Given the description of an element on the screen output the (x, y) to click on. 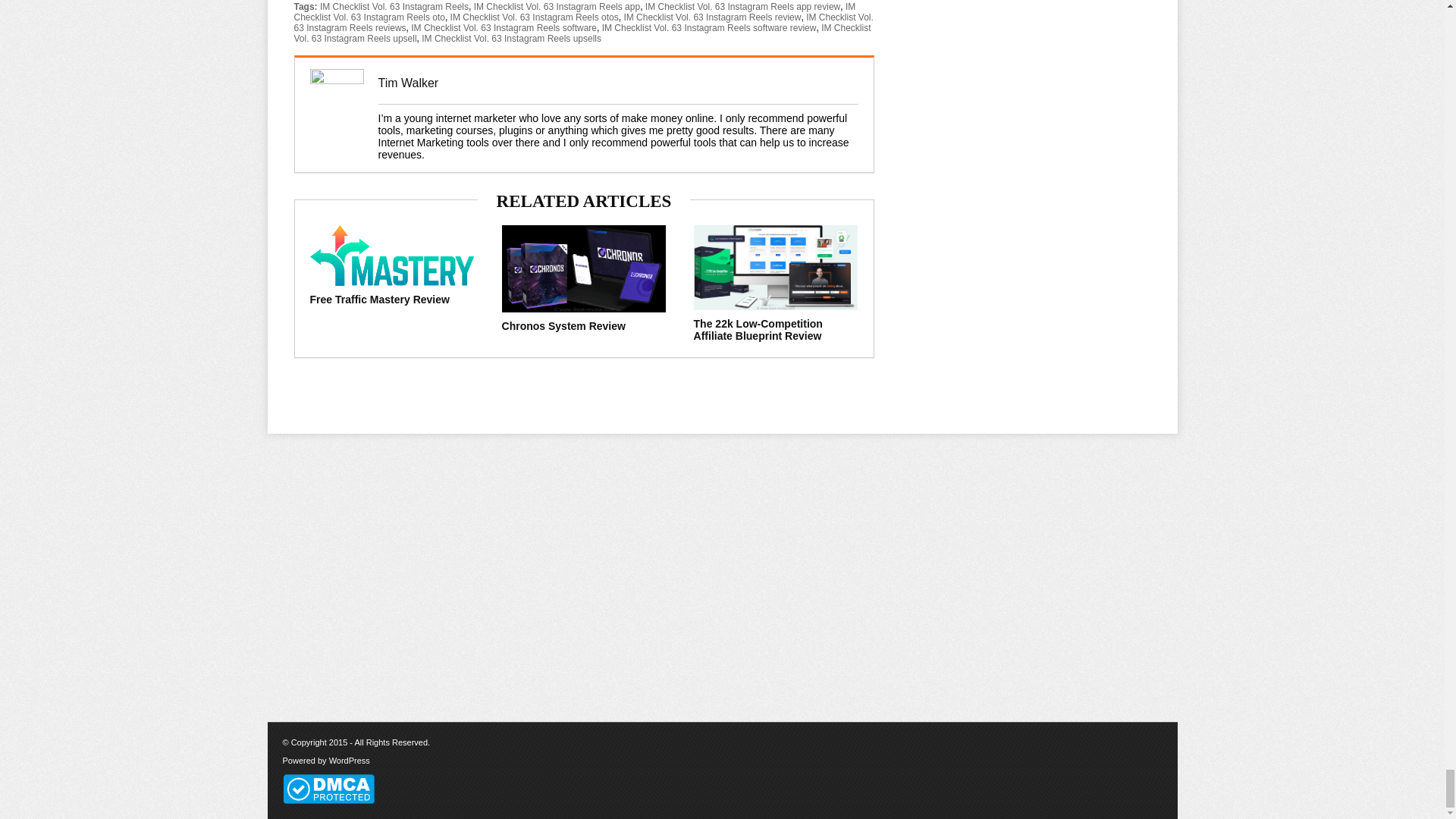
DMCA.com Protection Status (328, 777)
Free Traffic Mastery Review (378, 299)
Posts by Tim Walker (407, 82)
The 22k Low-Competition Affiliate Blueprint Review (758, 329)
Chronos System Review (564, 326)
